Given the description of an element on the screen output the (x, y) to click on. 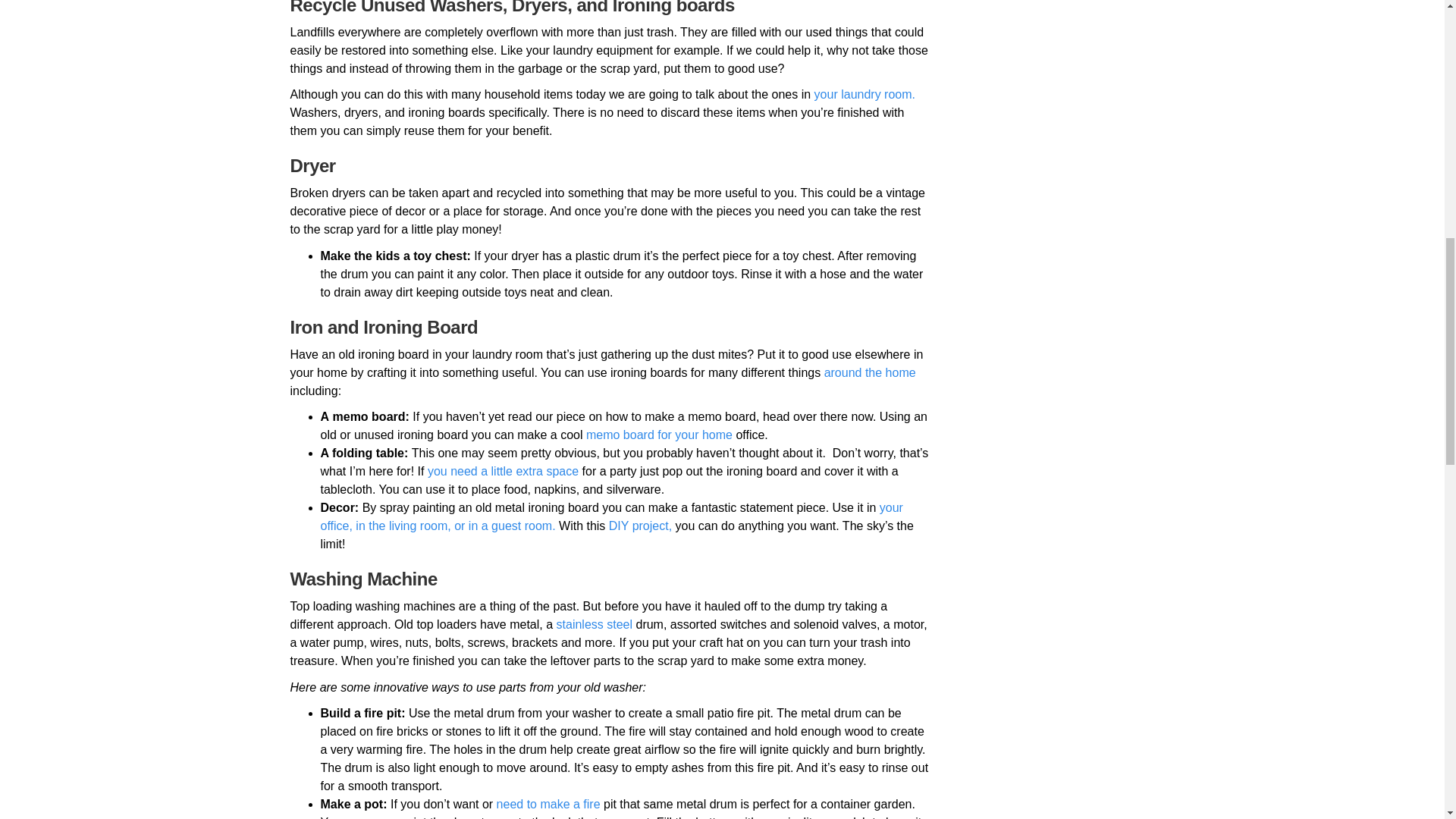
memo board for your home (659, 434)
your laundry room. (864, 93)
stainless steel (594, 624)
DIY project, (639, 525)
around the home (869, 372)
need to make a fire (547, 803)
your office, in the living room, or in a guest room. (611, 516)
you need a little extra space (503, 471)
